Given the description of an element on the screen output the (x, y) to click on. 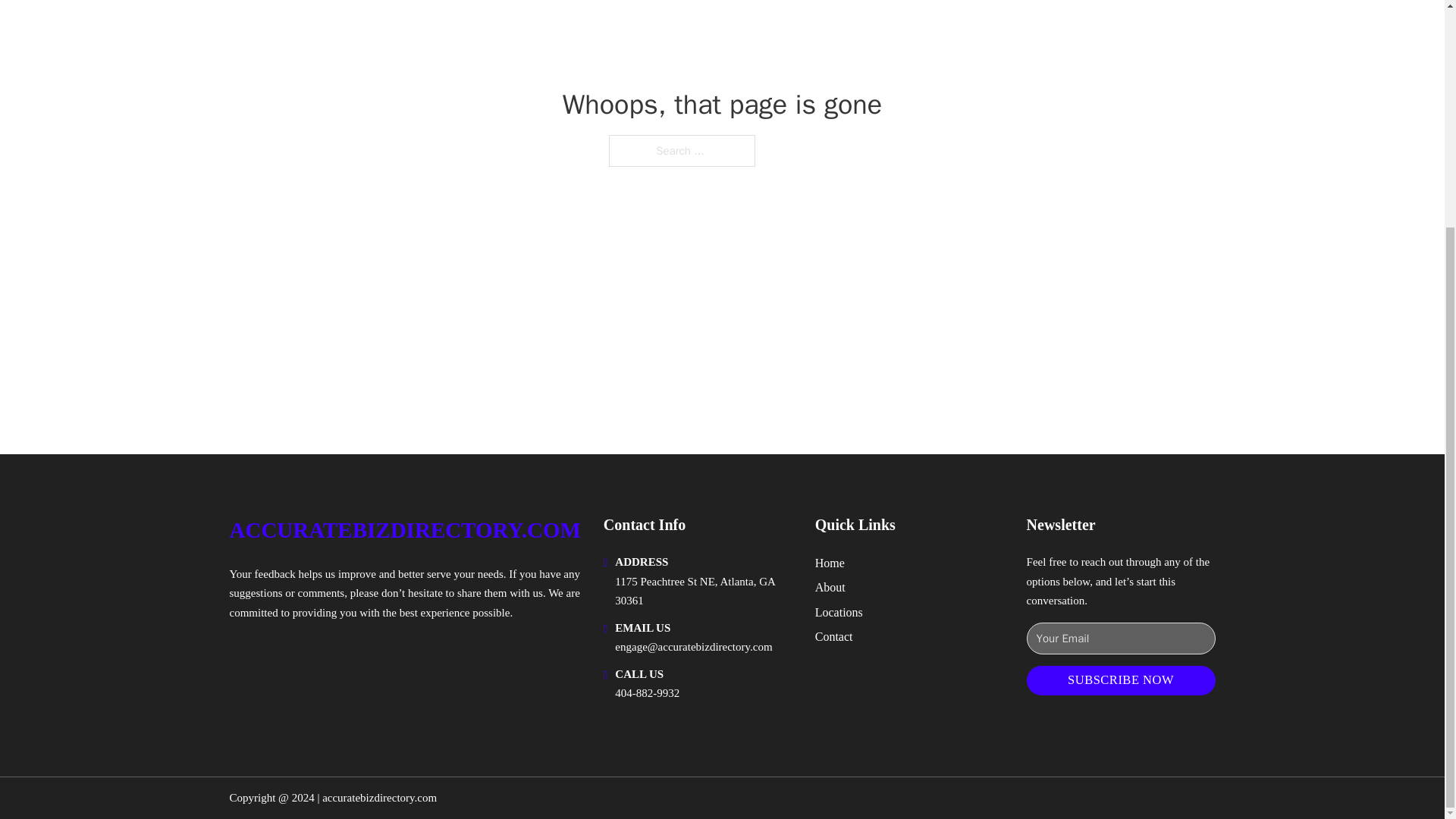
404-882-9932 (646, 693)
About (830, 587)
Contact (834, 636)
ACCURATEBIZDIRECTORY.COM (403, 529)
SUBSCRIBE NOW (1120, 680)
Home (829, 562)
Locations (839, 611)
